Given the description of an element on the screen output the (x, y) to click on. 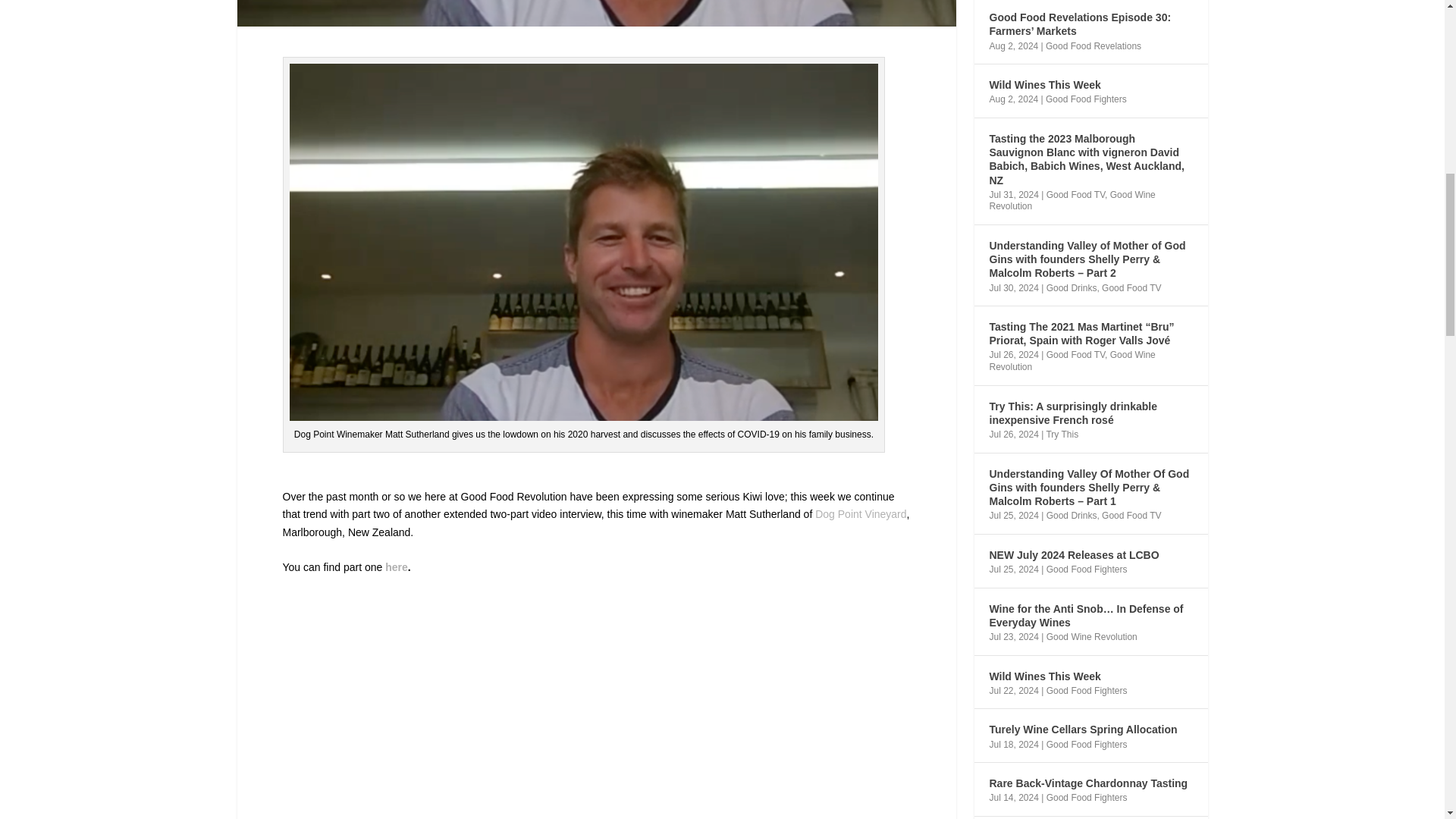
here (396, 567)
Dog Point Vineyard (860, 513)
